Given the description of an element on the screen output the (x, y) to click on. 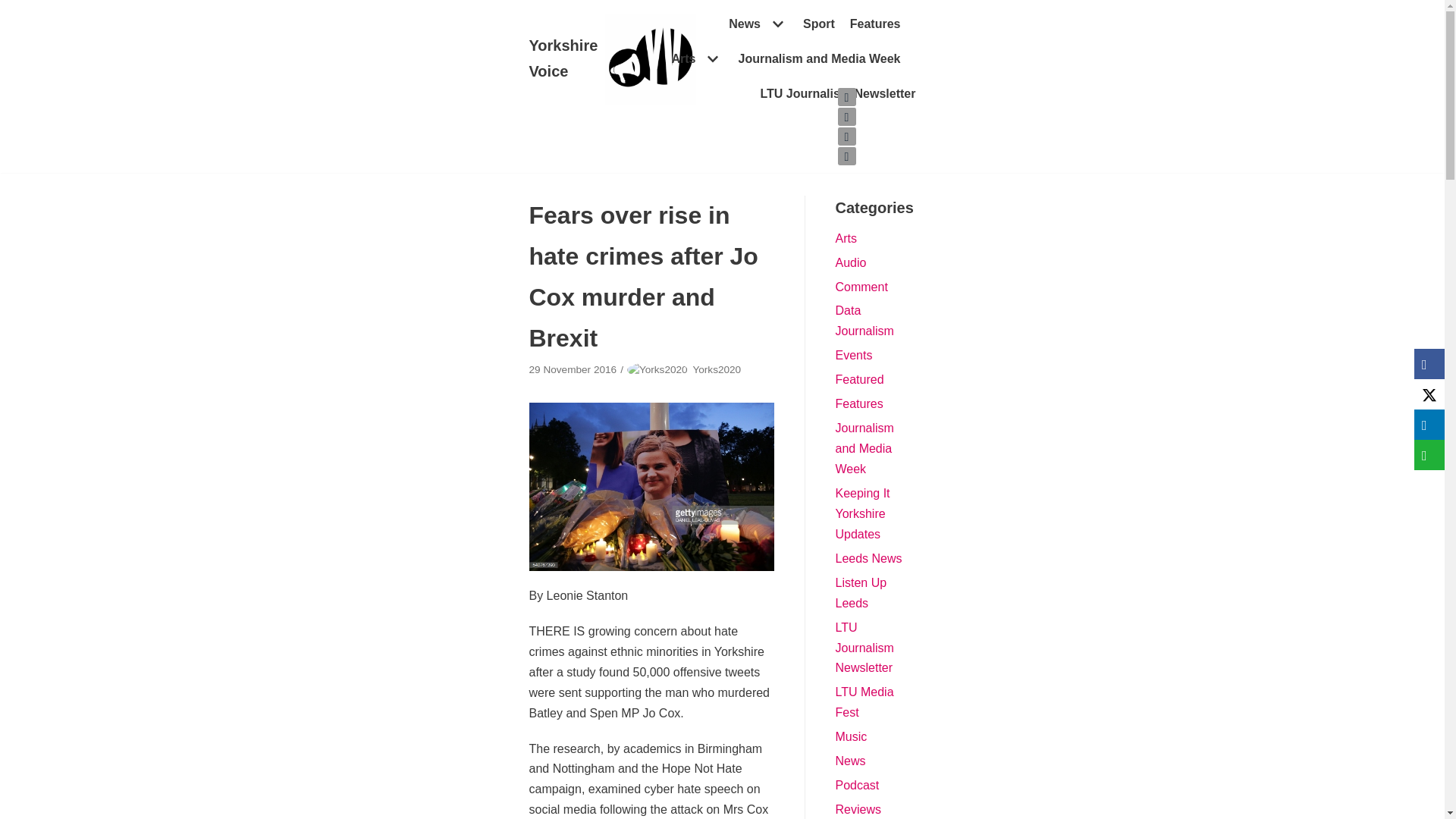
Facebook (846, 116)
Sport (818, 24)
Arts (696, 58)
LTU Journalism Newsletter (837, 94)
Features (875, 24)
Instagram (846, 136)
YouTube (846, 156)
Twitter (846, 96)
Yorks2020 (717, 369)
News (758, 24)
Yorkshire Voice (613, 58)
Yorkshire Voice (613, 58)
Skip to content (15, 7)
Journalism and Media Week (818, 58)
